Given the description of an element on the screen output the (x, y) to click on. 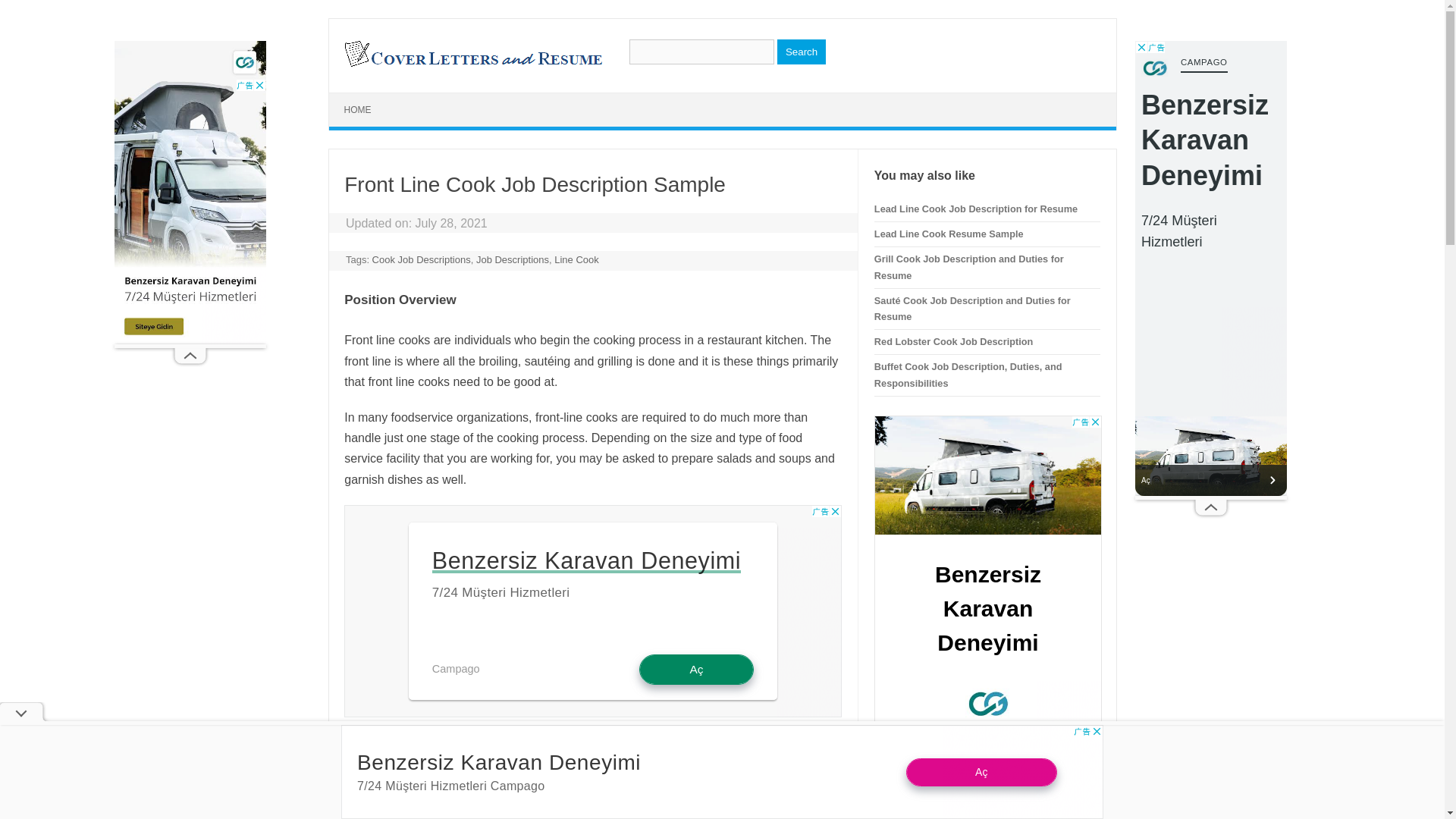
Line Cook (576, 259)
Advertisement (592, 611)
Red Lobster Cook Job Description (953, 341)
Lead Line Cook Job Description for Resume (976, 208)
Buffet Cook Job Description, Duties, and Responsibilities (968, 375)
HOME (358, 109)
Lead Line Cook Resume Sample (949, 233)
Search (801, 51)
Grill Cook Job Description and Duties for Resume (969, 267)
